Given the description of an element on the screen output the (x, y) to click on. 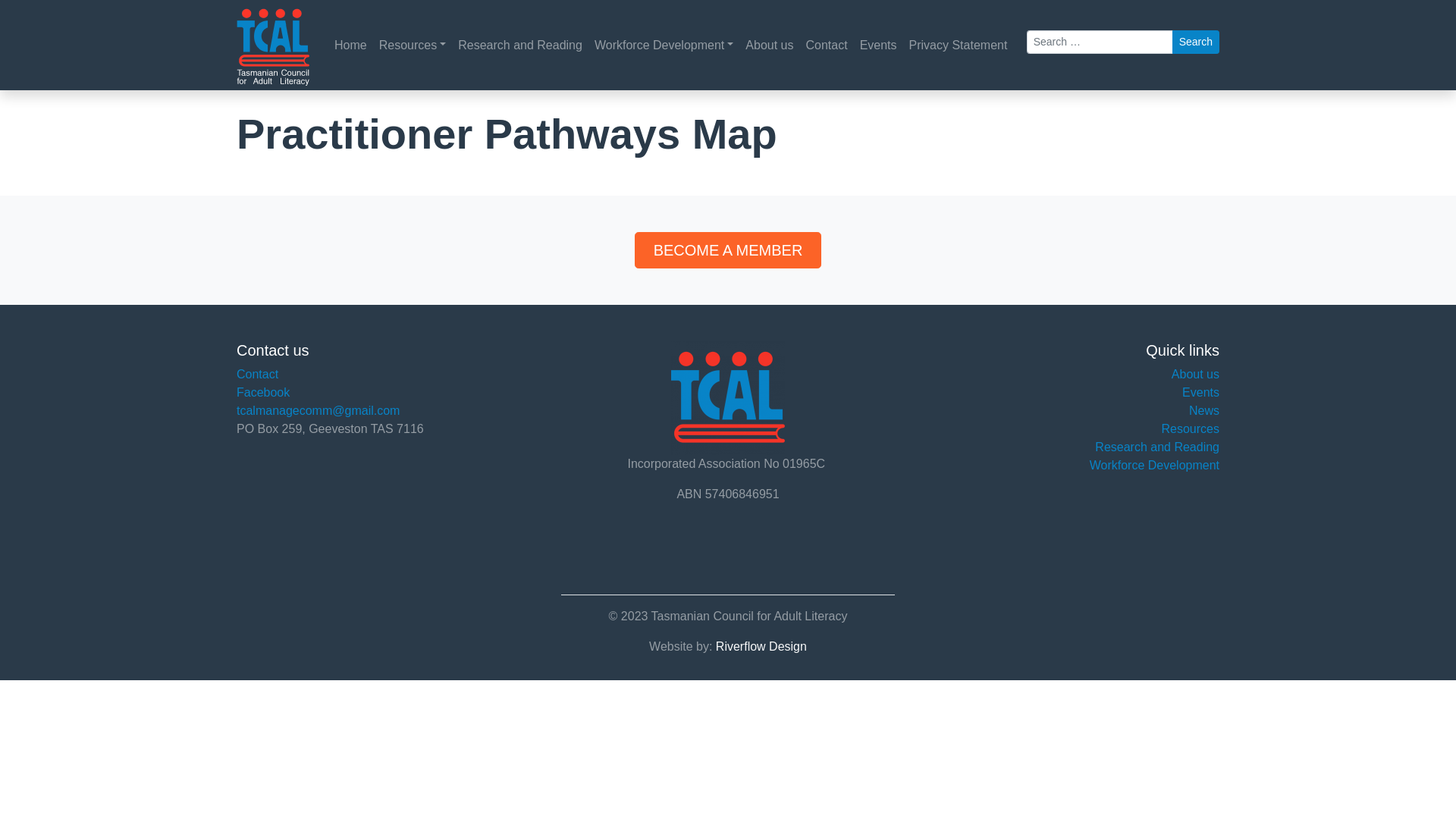
Resources Element type: text (1190, 428)
BECOME A MEMBER Element type: text (728, 250)
Search Element type: text (1195, 41)
tcalmanagecomm@gmail.com Element type: text (317, 410)
Resources Element type: text (412, 45)
Research and Reading Element type: text (1157, 446)
Workforce Development Element type: text (1154, 464)
Research and Reading Element type: text (519, 45)
About us Element type: text (1195, 373)
News Element type: text (1204, 410)
Riverflow Design Element type: text (760, 646)
Contact Element type: text (826, 45)
Events Element type: text (878, 45)
Contact Element type: text (257, 373)
Events Element type: text (1200, 391)
Workforce Development Element type: text (663, 45)
About us Element type: text (769, 45)
Home Element type: text (350, 45)
Privacy Statement Element type: text (958, 45)
PO Box 259, Geeveston TAS 7116 Element type: text (329, 428)
Facebook Element type: text (262, 391)
